Given the description of an element on the screen output the (x, y) to click on. 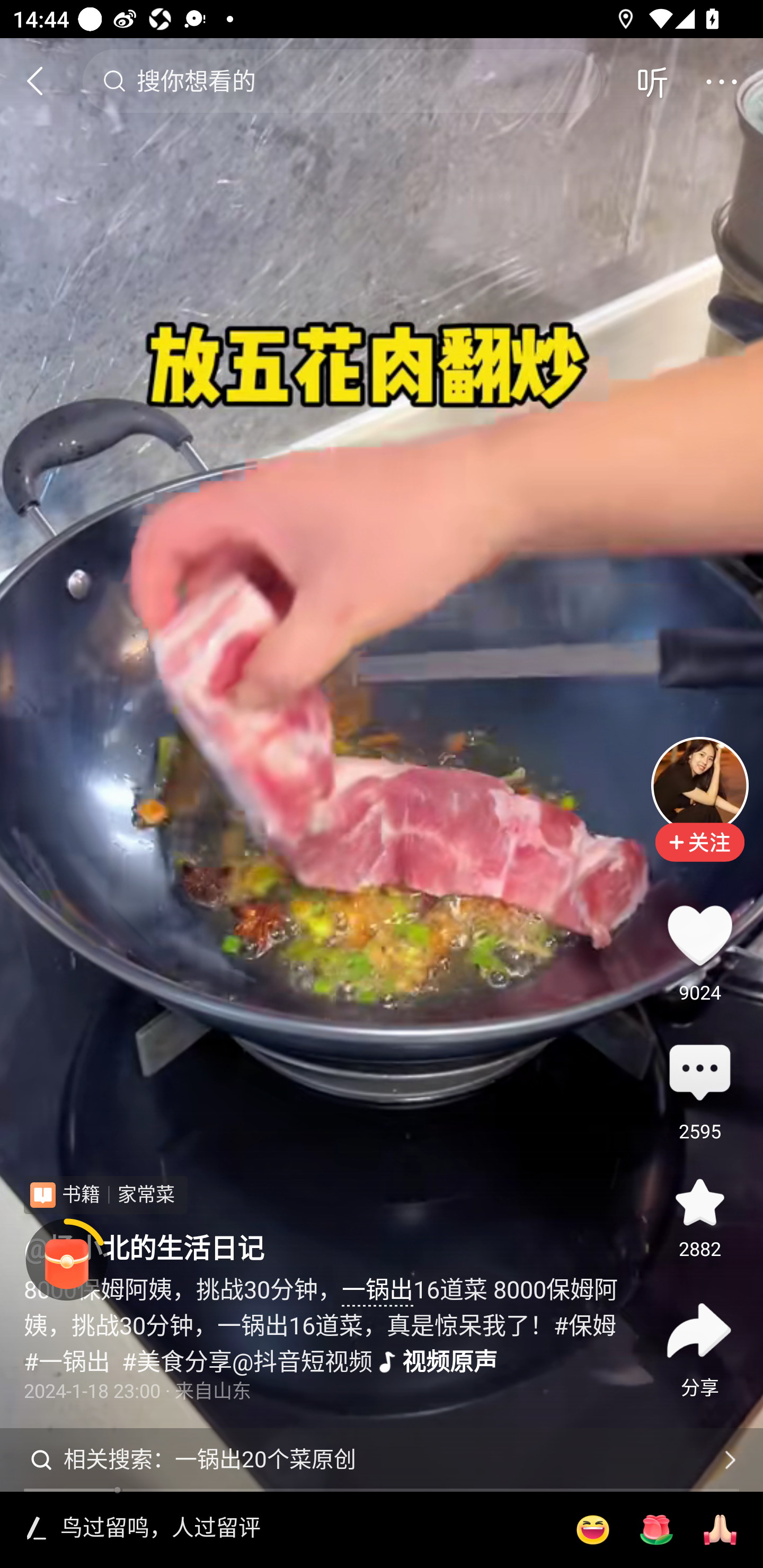
搜你想看的 搜索框，搜你想看的 (341, 80)
返回 (43, 80)
音频 (651, 80)
更多操作 (720, 80)
头像 (699, 785)
点赞9024 9024 (699, 935)
评论2595 评论 2595 (699, 1074)
收藏 2882 (699, 1201)
书籍｜家常菜 (105, 1194)
阅读赚金币 (66, 1259)
分享 (699, 1330)
相关搜索：一锅出20个菜原创 (381, 1459)
鸟过留鸣，人过留评 (305, 1529)
[大笑] (592, 1530)
[玫瑰] (656, 1530)
[祈祷] (719, 1530)
